Given the description of an element on the screen output the (x, y) to click on. 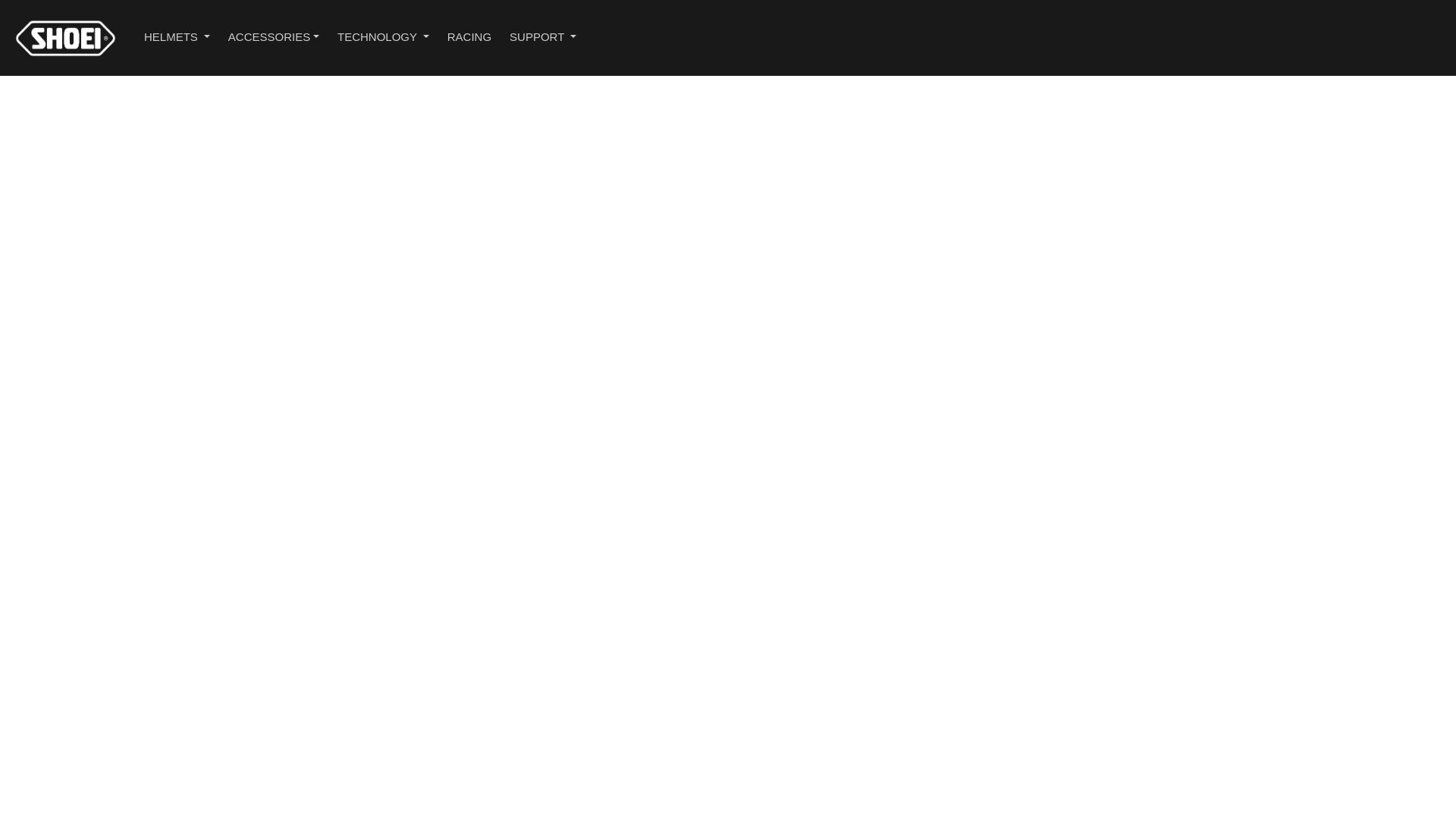
TECHNOLOGY (383, 37)
ACCESSORIES (274, 37)
RACING (469, 37)
HELMETS (177, 37)
SUPPORT (542, 37)
